Given the description of an element on the screen output the (x, y) to click on. 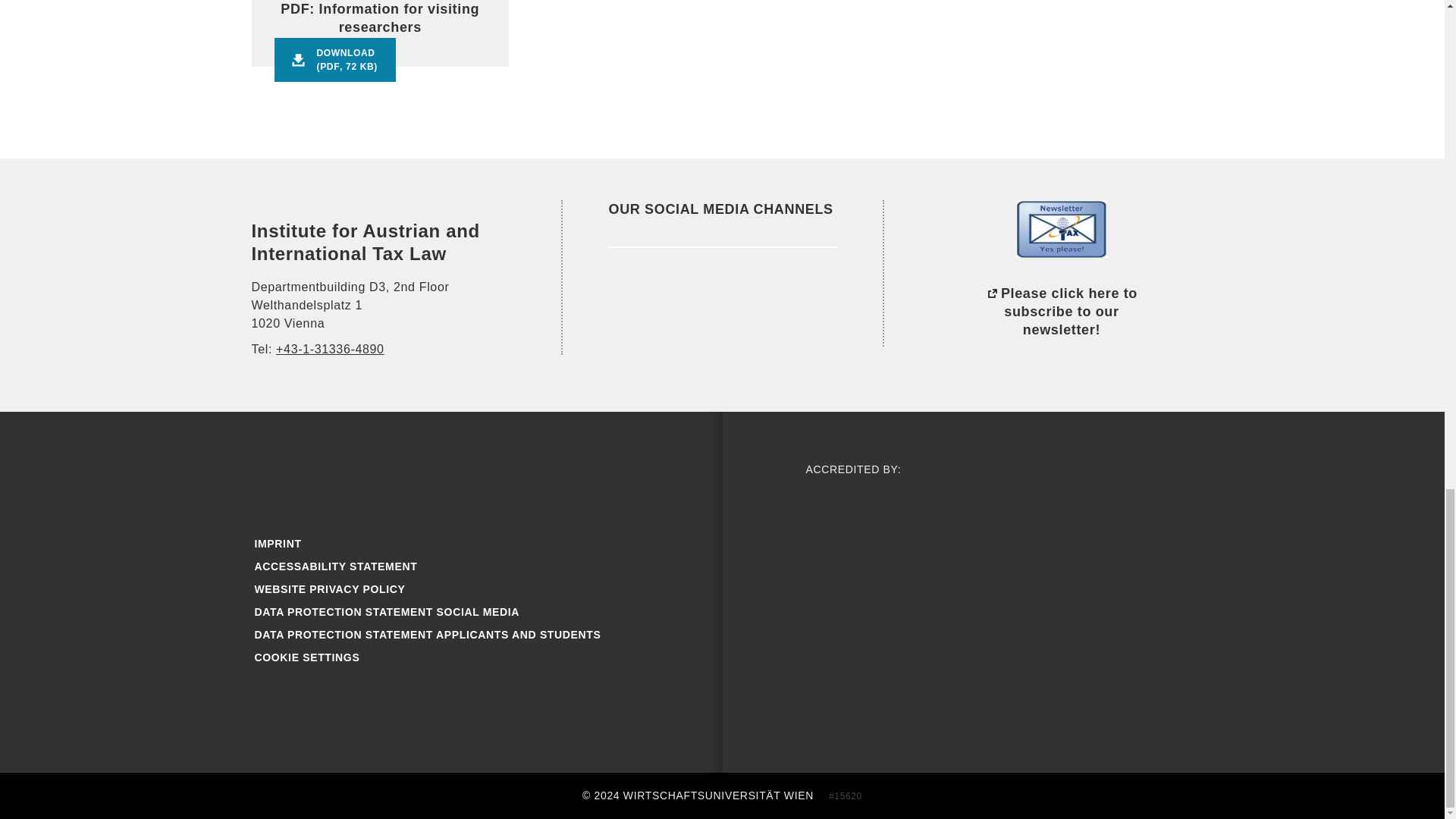
X (473, 476)
YouTube (423, 476)
Instagram (324, 476)
LinkedIn (629, 294)
Blog (374, 476)
Facebook (276, 476)
Logo: Newsletter Tax Law (1061, 228)
